Given the description of an element on the screen output the (x, y) to click on. 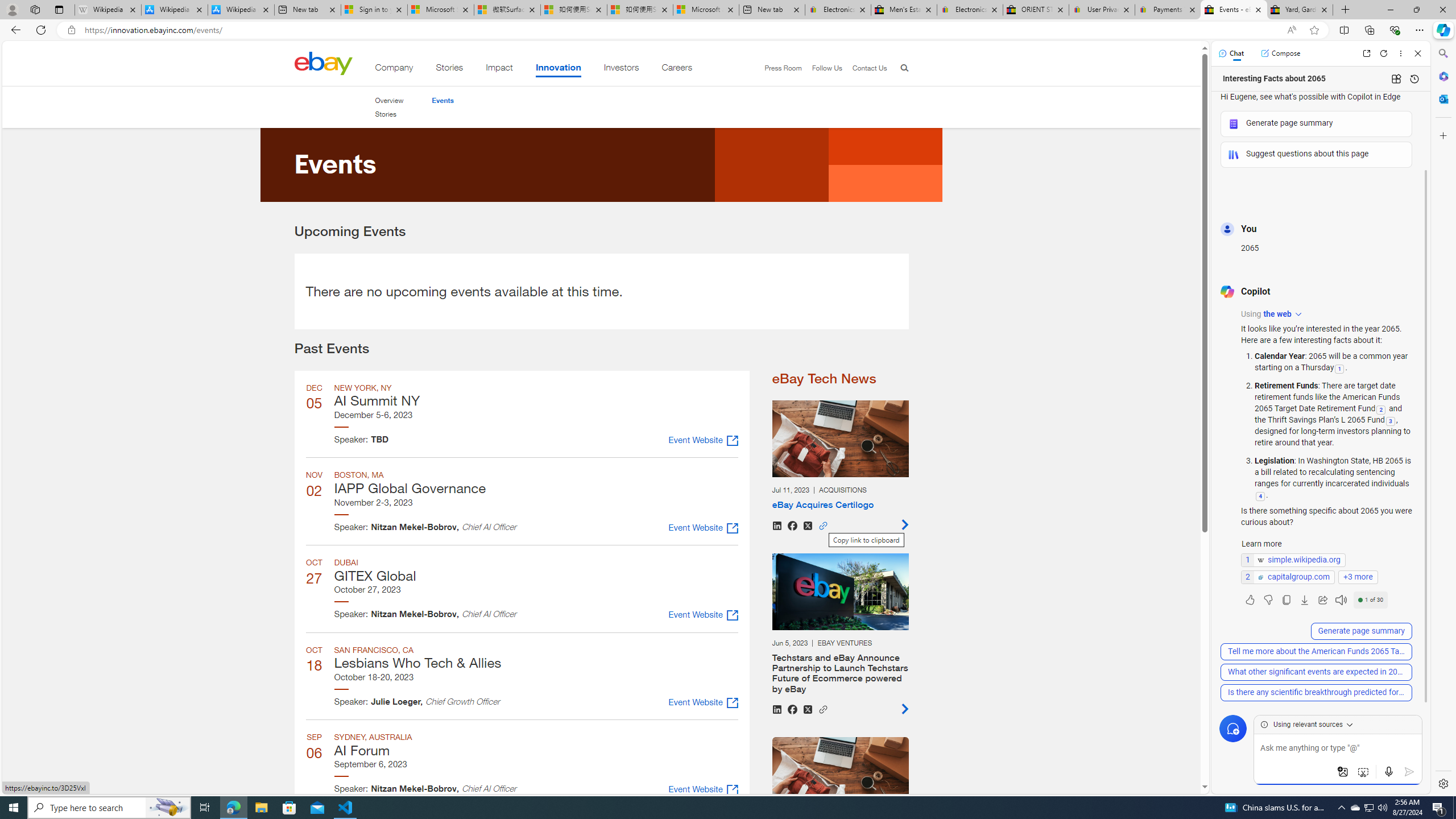
Share on X (Twitter) (807, 709)
Overview (388, 99)
Follow Us (821, 68)
Article: eBay Acquires Certilogo (839, 465)
Events (442, 99)
User Privacy Notice | eBay (1102, 9)
Careers (677, 69)
Press Room (778, 68)
Share on Facebook (792, 709)
Events - eBay Inc. (1233, 9)
Impact (499, 69)
Share on LinkedIn (776, 709)
